Given the description of an element on the screen output the (x, y) to click on. 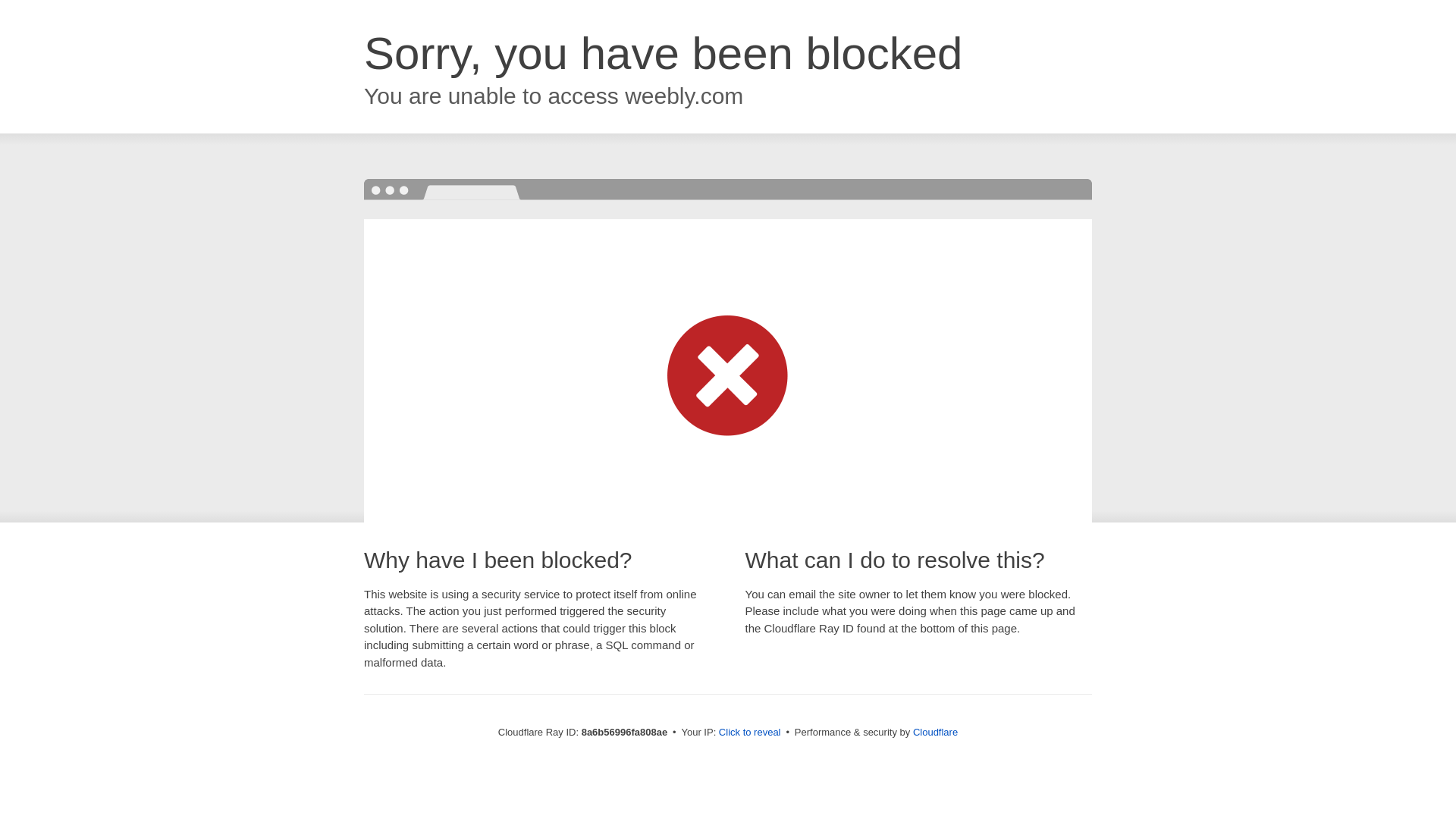
Click to reveal (749, 732)
Cloudflare (935, 731)
